Given the description of an element on the screen output the (x, y) to click on. 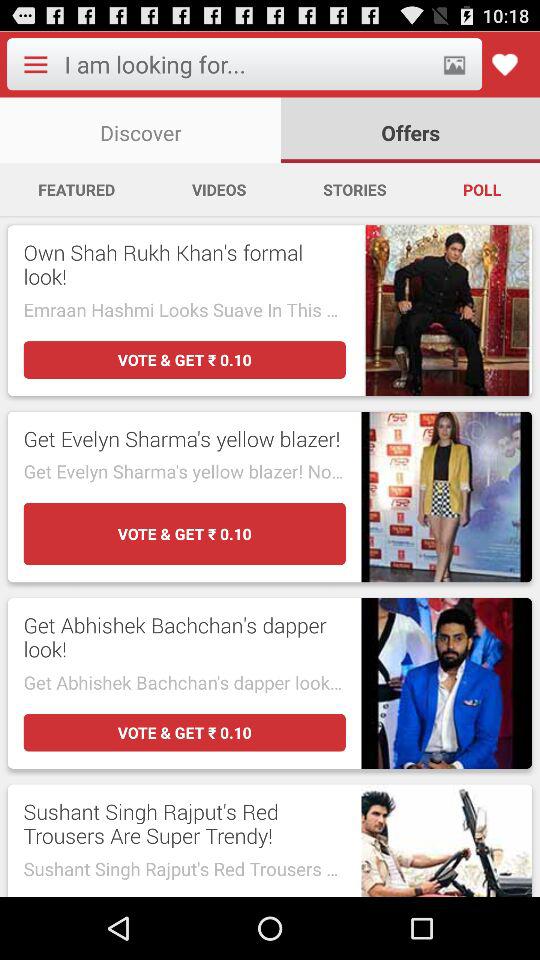
app menu choices (35, 64)
